Given the description of an element on the screen output the (x, y) to click on. 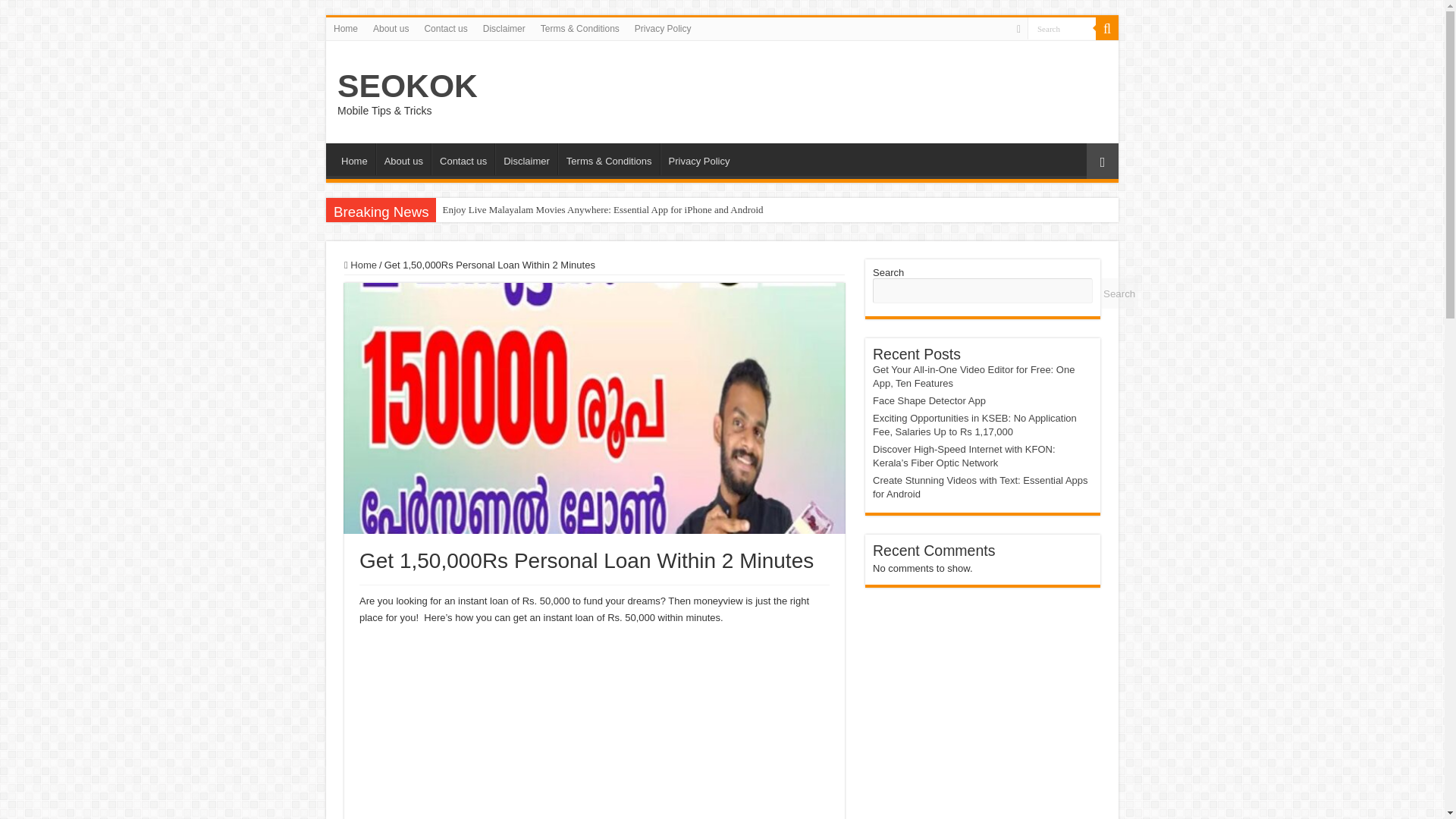
Disclaimer (526, 159)
SEOKOK (407, 85)
Home (360, 265)
About us (390, 28)
Privacy Policy (662, 28)
Contact us (445, 28)
Search (1107, 28)
Search (1061, 28)
Privacy Policy (699, 159)
Home (345, 28)
Search (1061, 28)
Home (354, 159)
About us (402, 159)
Disclaimer (504, 28)
